Given the description of an element on the screen output the (x, y) to click on. 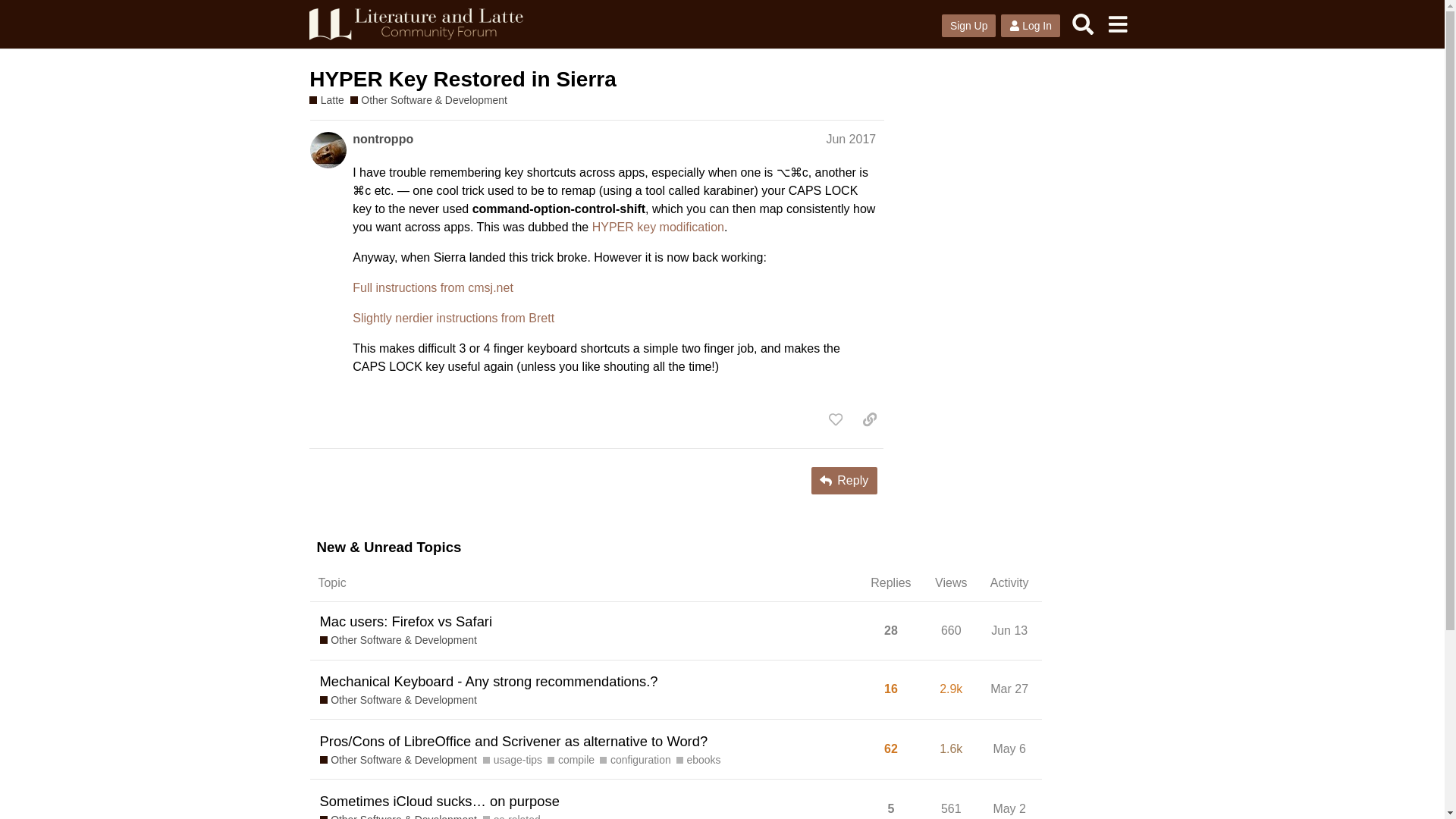
menu (1117, 23)
Reply (843, 480)
Log In (1030, 25)
Full instructions from cmsj.net (432, 287)
usage-tips (512, 760)
Jun 13 (1008, 630)
compile (570, 760)
HYPER key modification (657, 226)
Mechanical Keyboard - Any strong recommendations.? (489, 681)
Mar 27 (1009, 688)
